Given the description of an element on the screen output the (x, y) to click on. 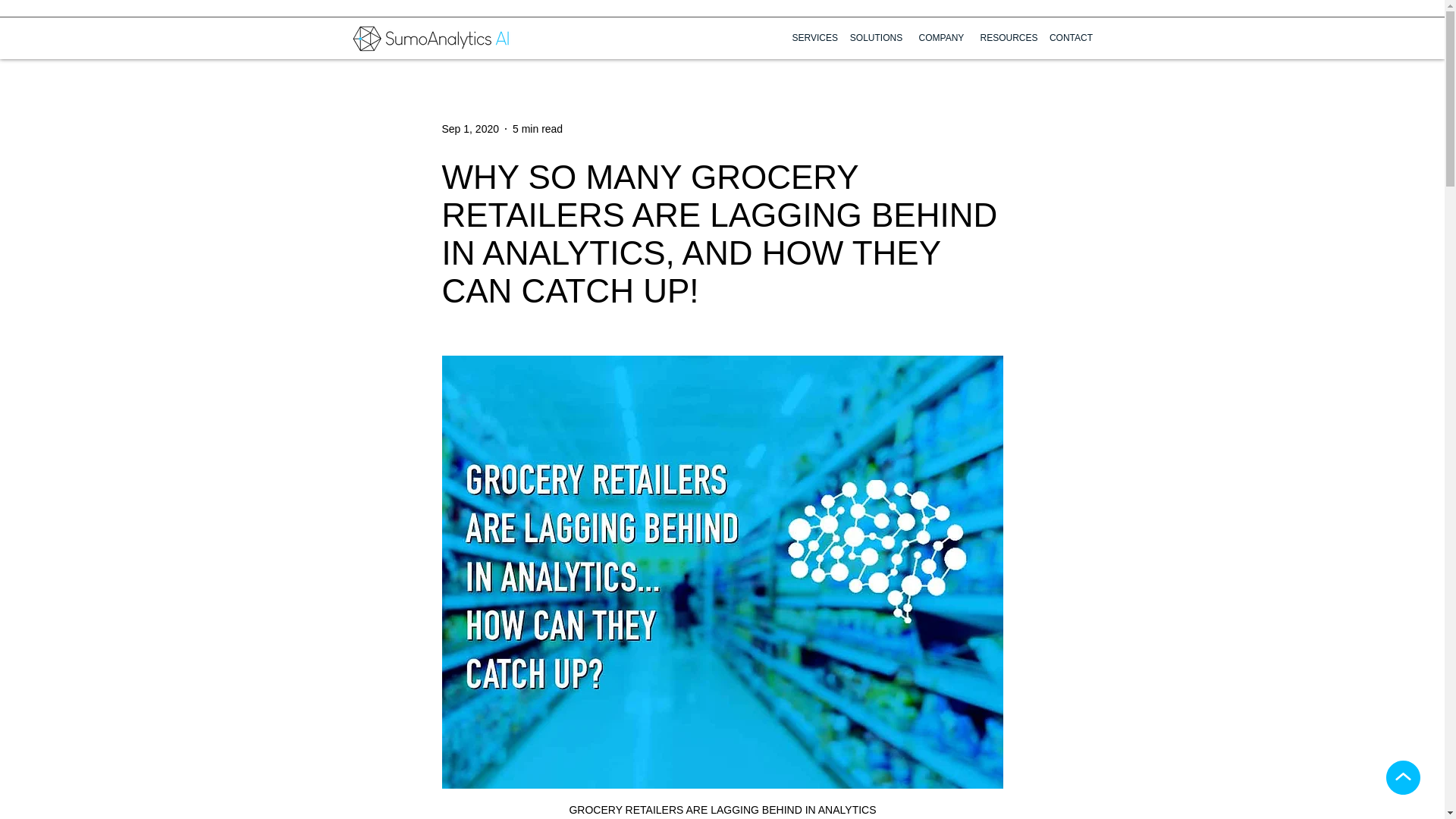
Sep 1, 2020 (470, 128)
RESOURCES (1006, 37)
CONTACT (1071, 37)
COMPANY (941, 37)
SOLUTIONS (875, 37)
5 min read (537, 128)
SERVICES (812, 37)
